Given the description of an element on the screen output the (x, y) to click on. 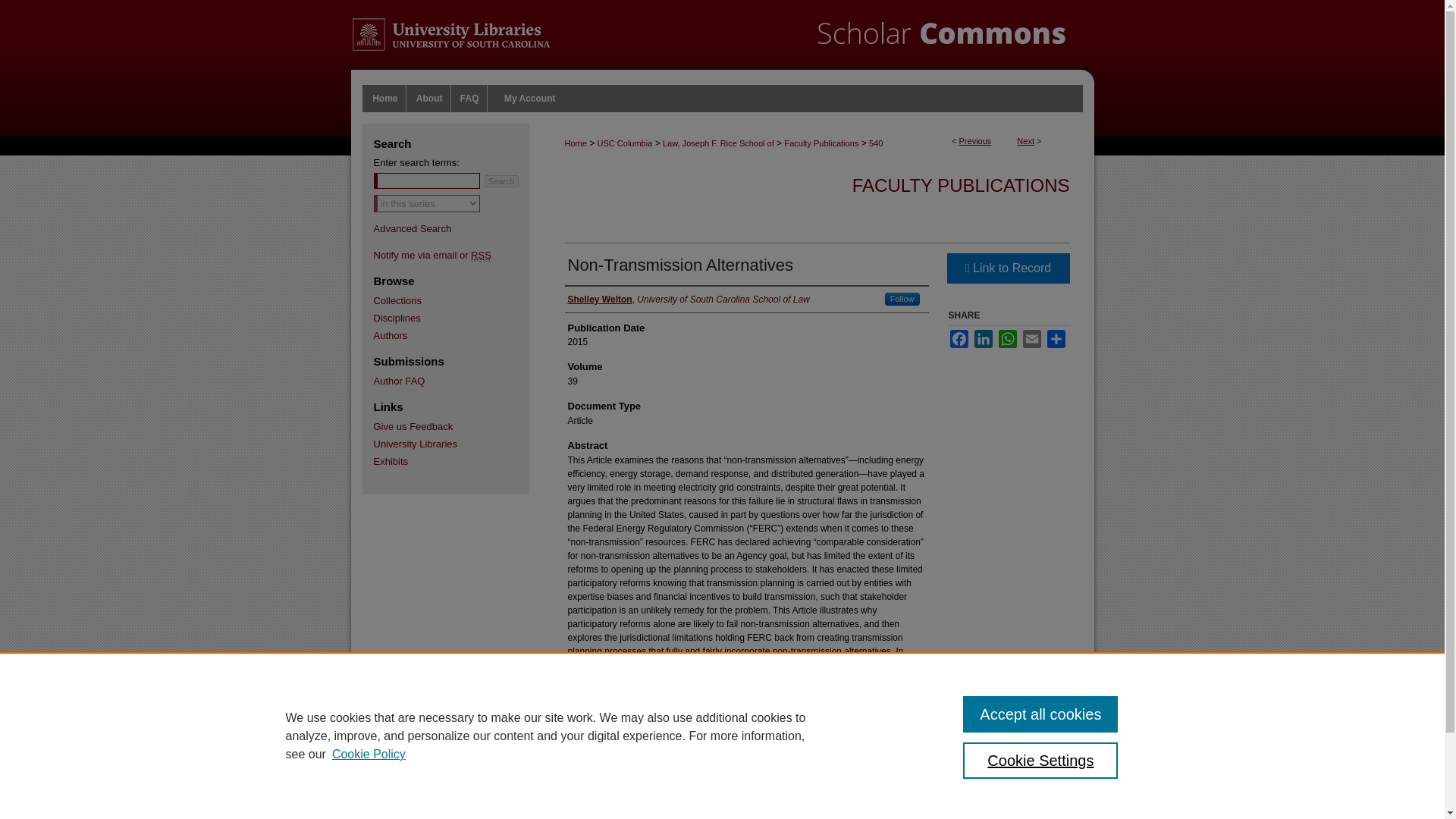
My Account (529, 98)
LinkedIn (982, 339)
Scholar Commons (721, 42)
Browse by Disciplines (457, 317)
University Libraries (457, 443)
Home (385, 98)
Authors (457, 335)
About (430, 98)
Follow (902, 298)
Link to Record (1007, 268)
Browse by Collections (457, 300)
Shelley Welton, University of South Carolina School of Law (688, 299)
Email or RSS Notifications (457, 255)
FAQ (469, 98)
Link opens in new window (1007, 268)
